Given the description of an element on the screen output the (x, y) to click on. 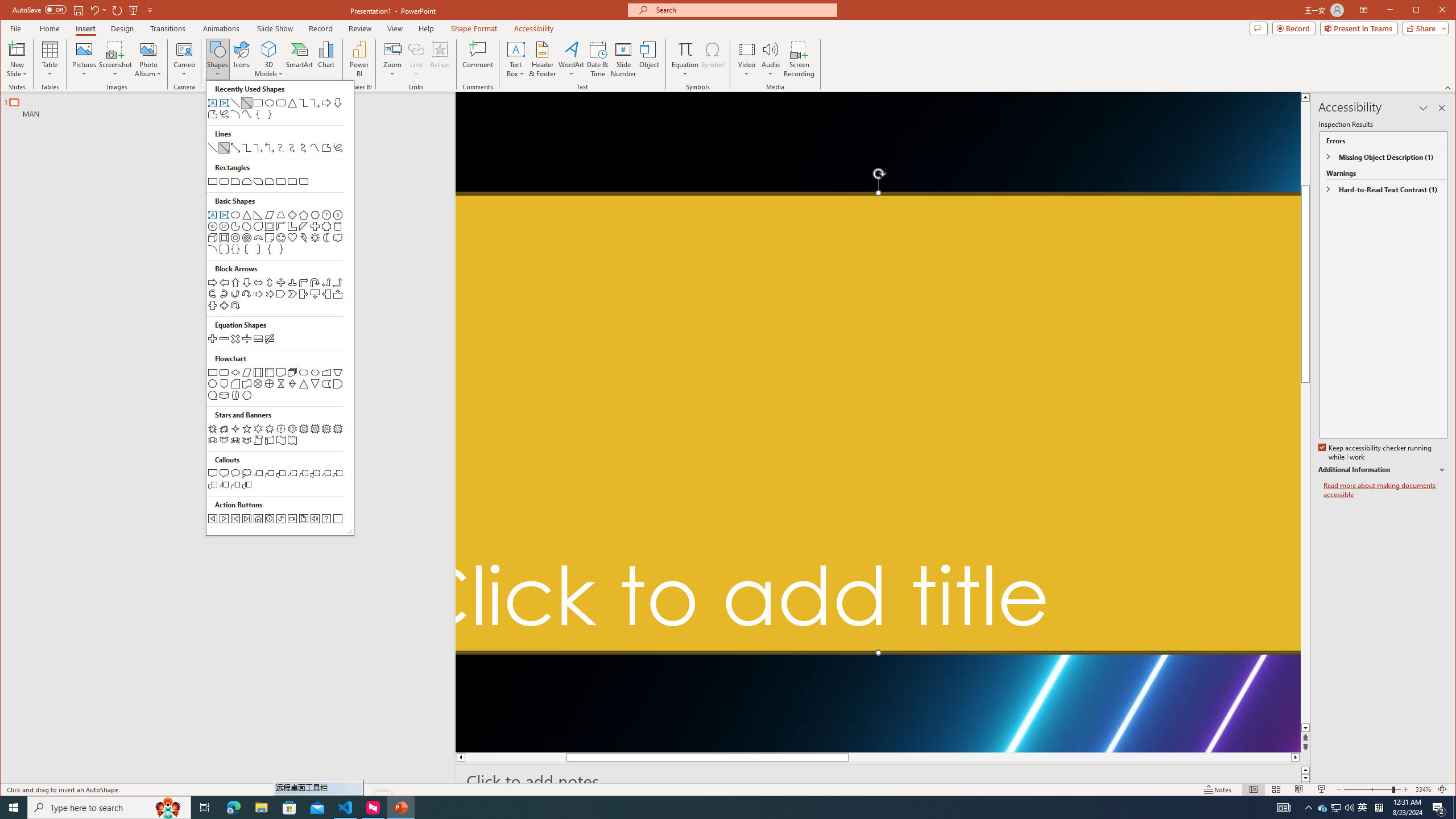
Line down (1305, 728)
Table (49, 59)
Microsoft Store (289, 807)
Slide Number (623, 59)
AutomationID: 4105 (1283, 807)
Equation (685, 59)
